Given the description of an element on the screen output the (x, y) to click on. 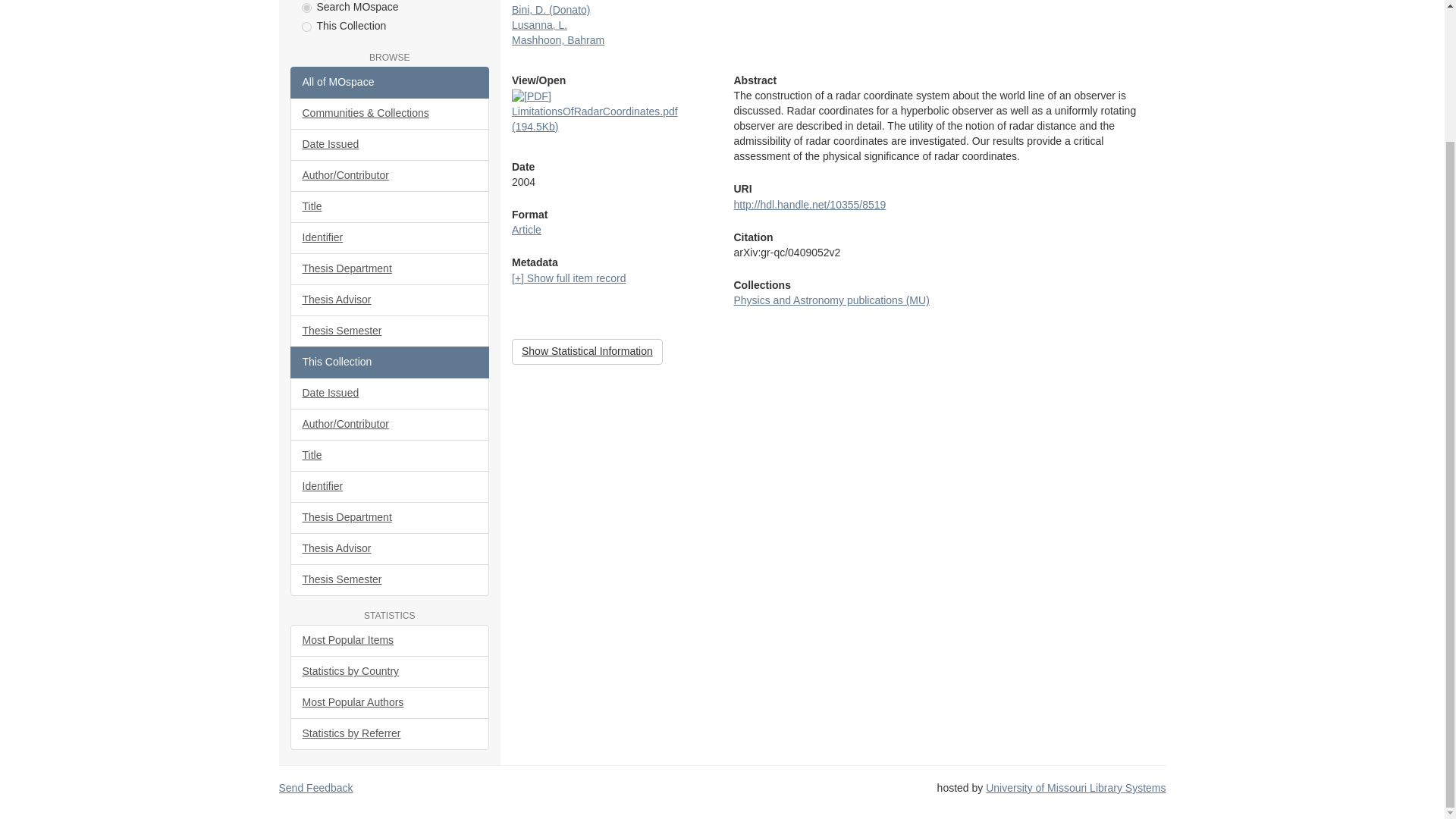
Identifier (389, 237)
All of MOspace (389, 82)
PDF file (531, 96)
Title (389, 206)
Thesis Semester (389, 331)
Thesis Department (389, 269)
Date Issued (389, 144)
Date Issued (389, 393)
Thesis Advisor (389, 300)
This Collection (389, 362)
